Given the description of an element on the screen output the (x, y) to click on. 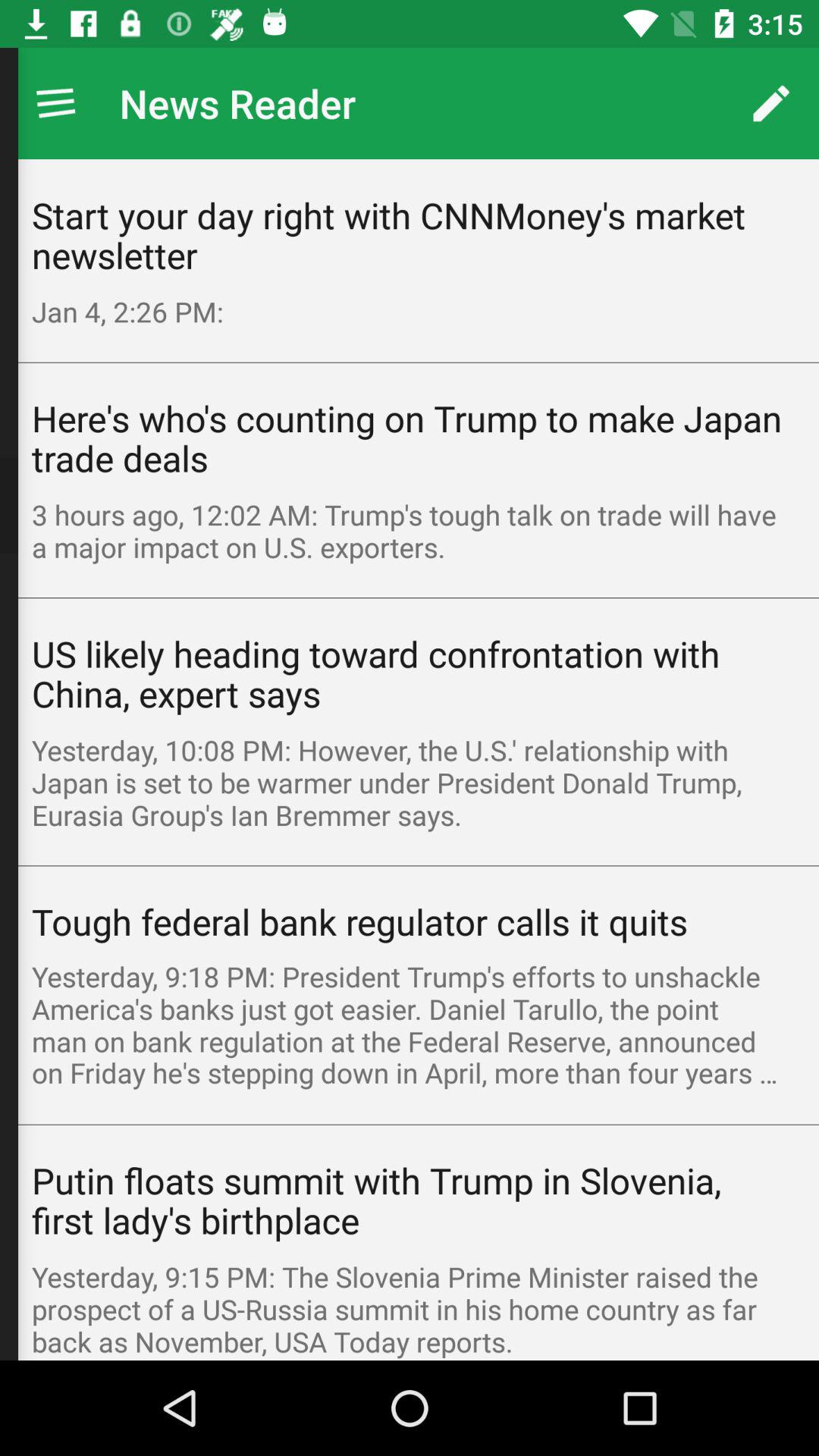
turn on the icon above start your day icon (771, 103)
